Given the description of an element on the screen output the (x, y) to click on. 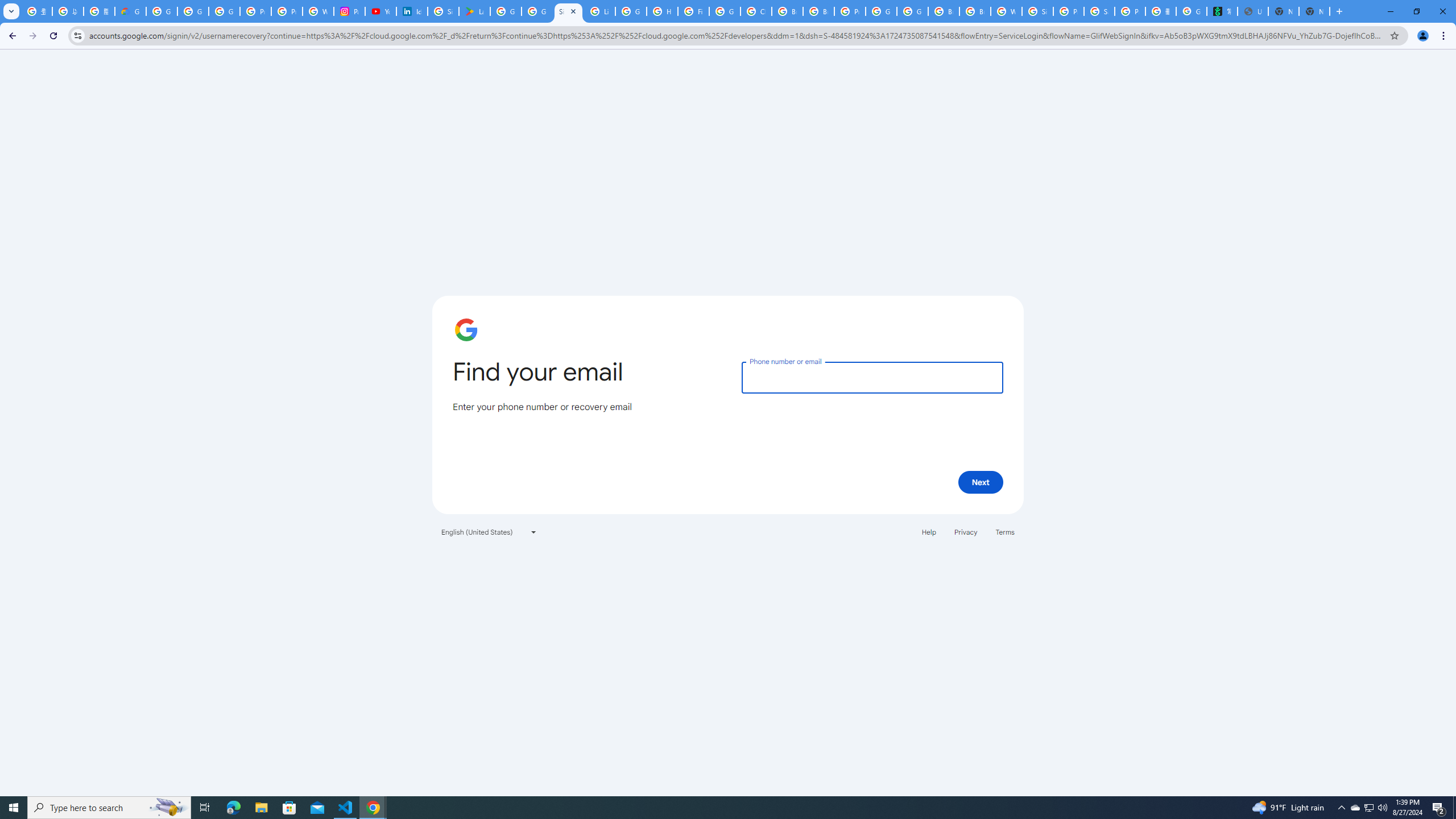
How do I create a new Google Account? - Google Account Help (662, 11)
